Given the description of an element on the screen output the (x, y) to click on. 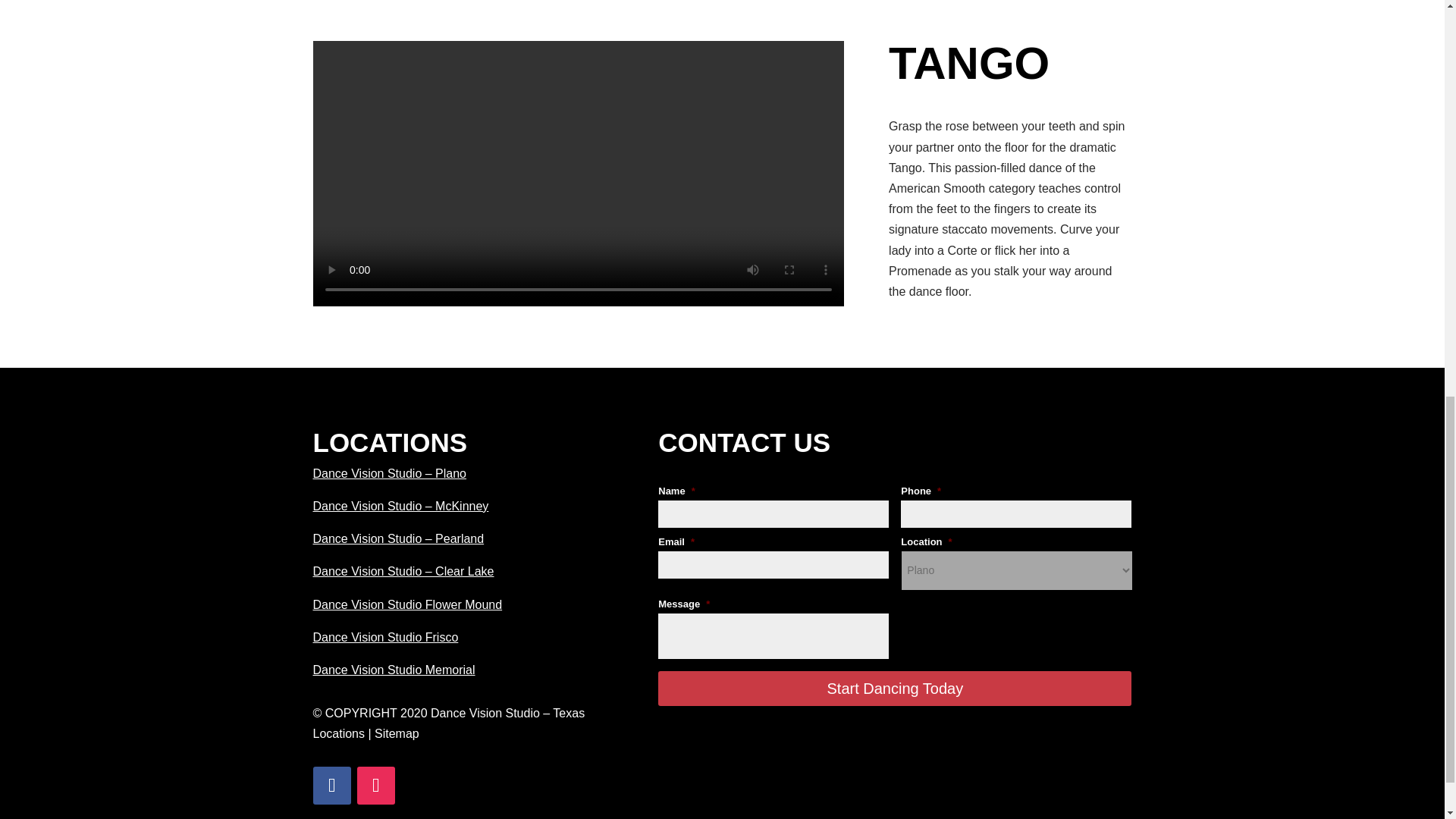
Follow on Instagram (375, 785)
Follow on Facebook (331, 785)
Start Dancing Today (894, 687)
